Given the description of an element on the screen output the (x, y) to click on. 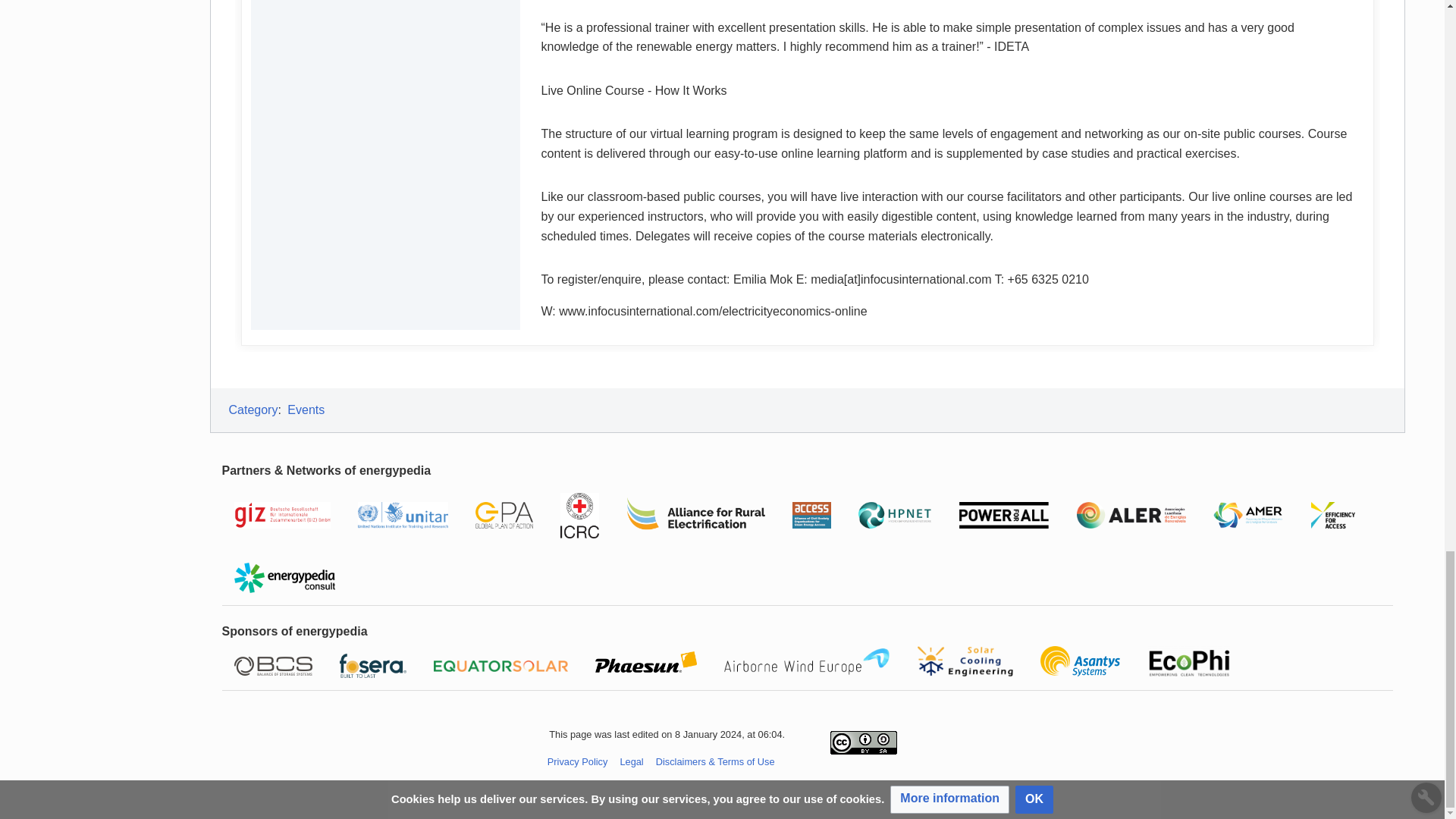
Events (305, 409)
Category:Events (305, 409)
Special:Categories (253, 409)
Category (253, 409)
